Given the description of an element on the screen output the (x, y) to click on. 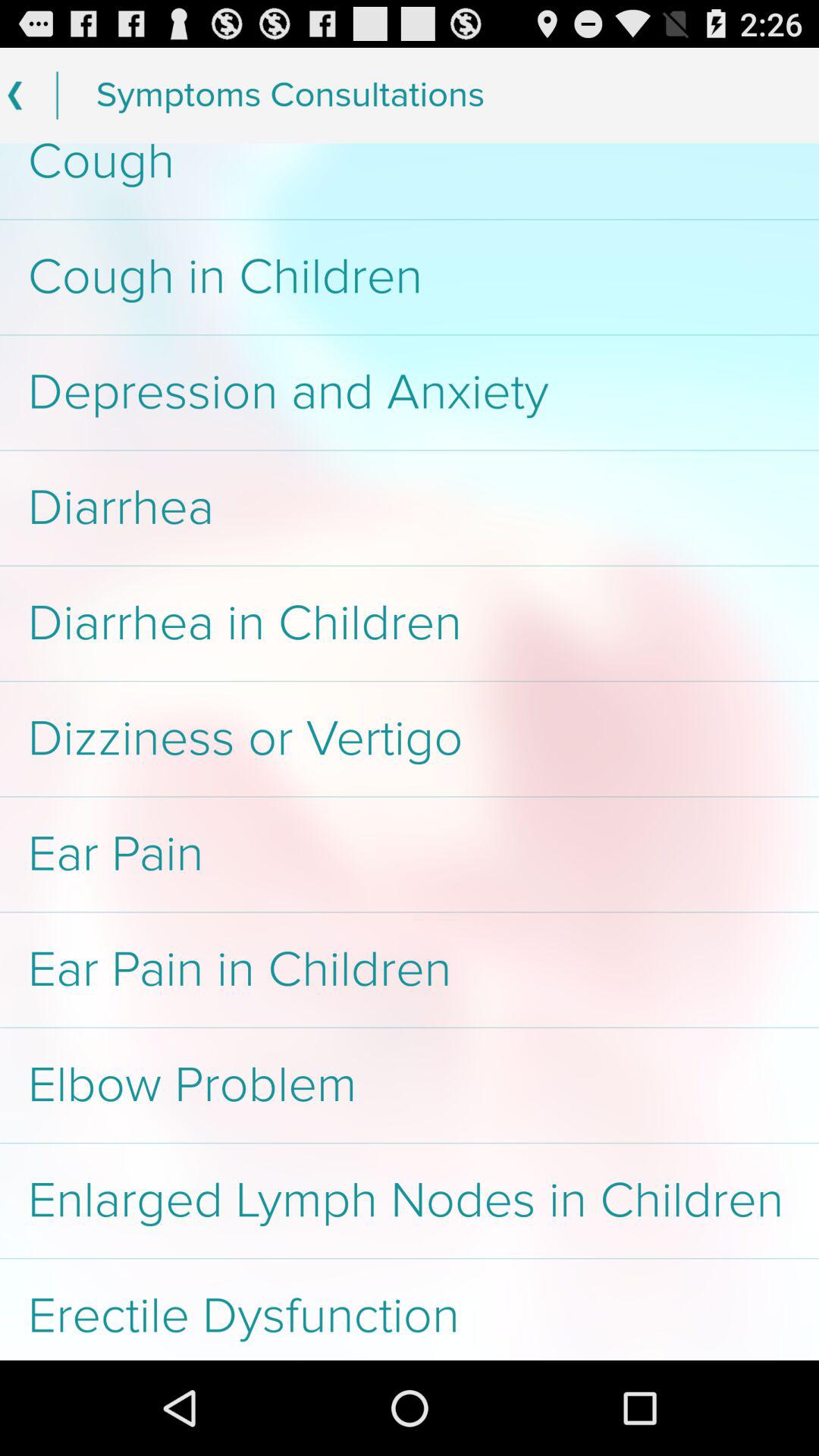
swipe until the dizziness or vertigo icon (409, 738)
